Given the description of an element on the screen output the (x, y) to click on. 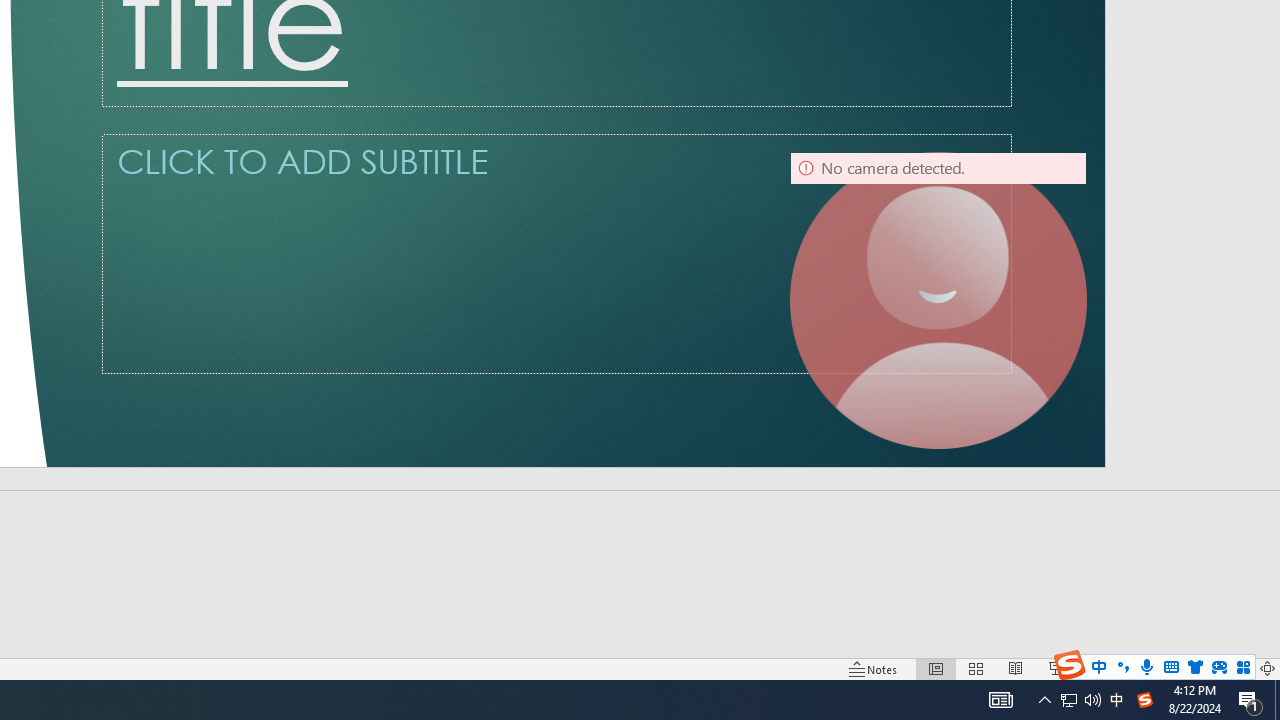
Zoom 140% (1234, 668)
